Given the description of an element on the screen output the (x, y) to click on. 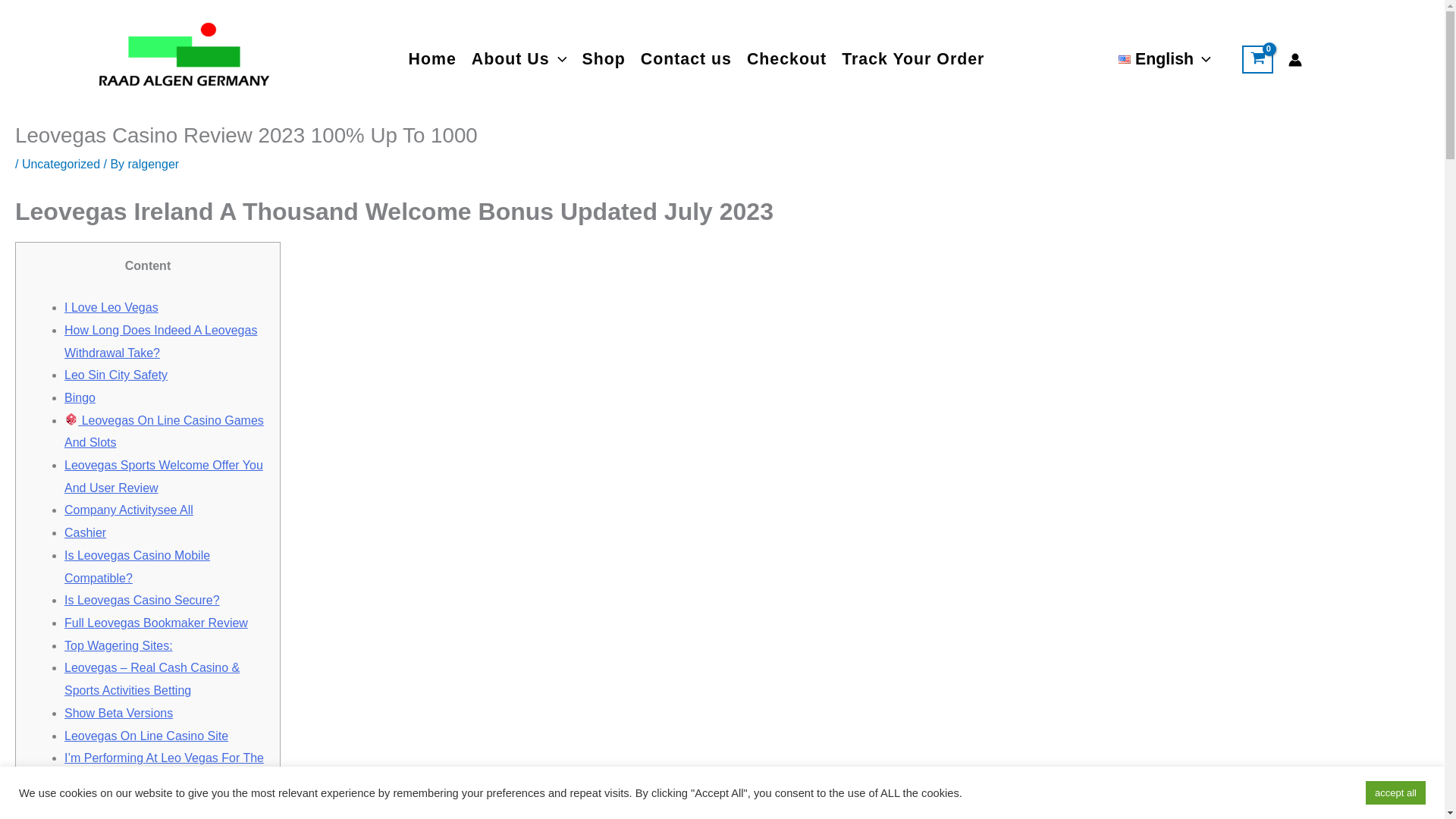
Shop (602, 59)
View all posts by ralgenger (153, 164)
Home (432, 59)
Track Your Order (912, 59)
About Us (519, 59)
Contact us (686, 59)
English (1164, 60)
Uncategorized (60, 164)
Checkout (786, 59)
